Given the description of an element on the screen output the (x, y) to click on. 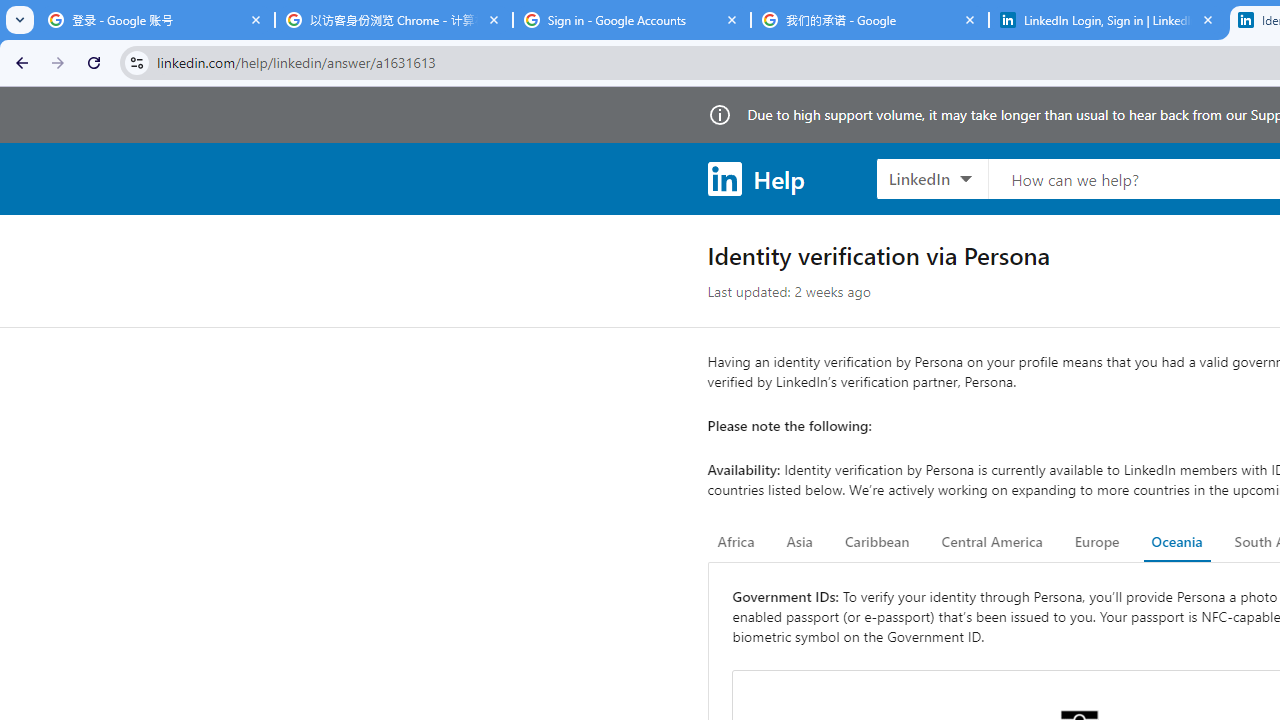
Sign in - Google Accounts (632, 20)
LinkedIn products to search, LinkedIn selected (932, 178)
Asia (799, 542)
LinkedIn Login, Sign in | LinkedIn (1108, 20)
Caribbean (876, 542)
Central America (991, 542)
Africa (735, 542)
Europe (1096, 542)
